Given the description of an element on the screen output the (x, y) to click on. 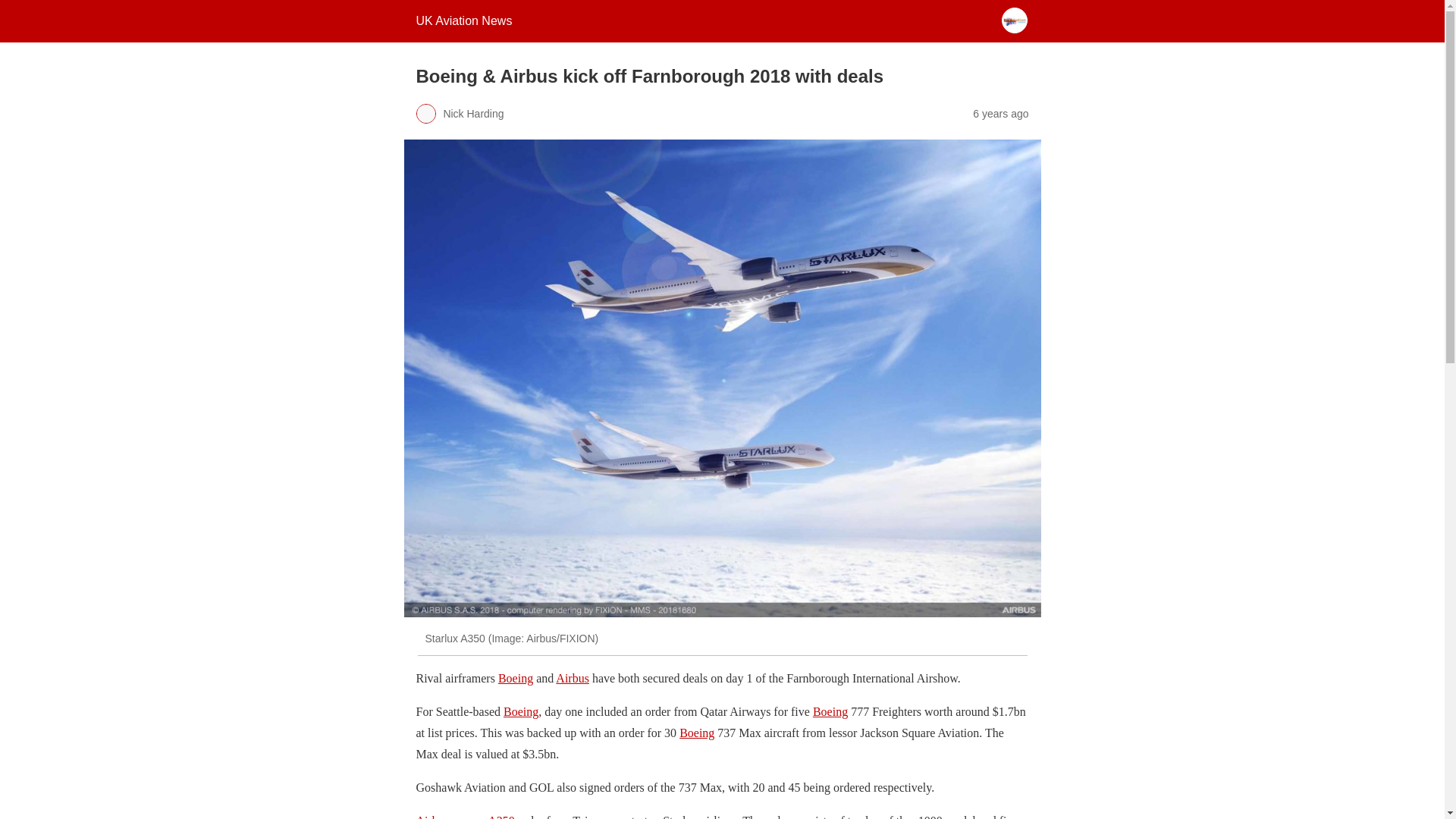
Boeing (520, 711)
A350 (501, 816)
UK Aviation News (463, 20)
Airbus (572, 677)
Boeing (514, 677)
Boeing (829, 711)
Boeing (696, 732)
Airbus (431, 816)
